Given the description of an element on the screen output the (x, y) to click on. 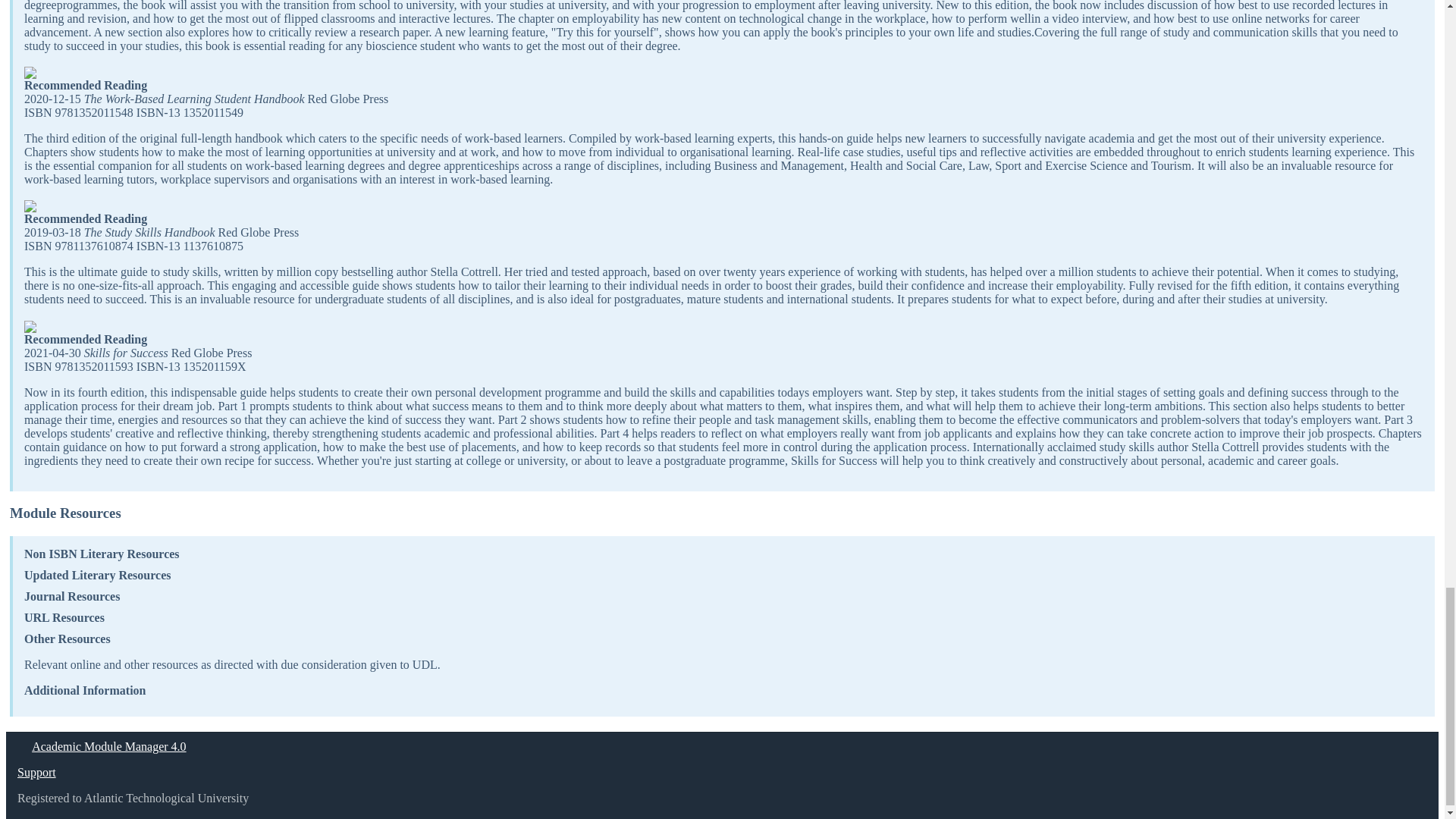
Academic Module Manager 4.0 (109, 746)
Support (36, 771)
